Given the description of an element on the screen output the (x, y) to click on. 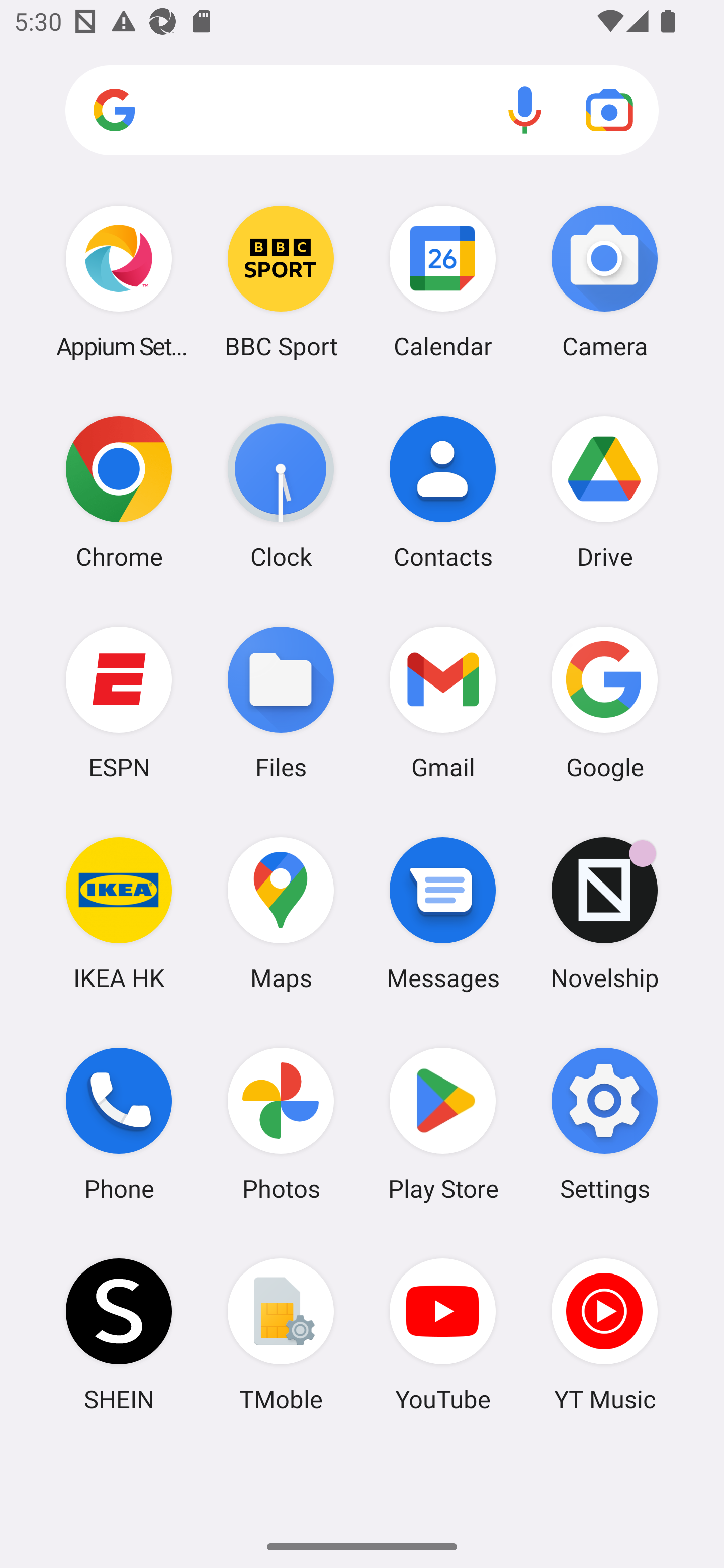
Search apps, web and more (361, 110)
Voice search (524, 109)
Google Lens (608, 109)
Appium Settings (118, 281)
BBC Sport (280, 281)
Calendar (443, 281)
Camera (604, 281)
Chrome (118, 492)
Clock (280, 492)
Contacts (443, 492)
Drive (604, 492)
ESPN (118, 702)
Files (280, 702)
Gmail (443, 702)
Google (604, 702)
IKEA HK (118, 913)
Maps (280, 913)
Messages (443, 913)
Novelship Novelship has 1 notification (604, 913)
Phone (118, 1124)
Photos (280, 1124)
Play Store (443, 1124)
Settings (604, 1124)
SHEIN (118, 1334)
TMoble (280, 1334)
YouTube (443, 1334)
YT Music (604, 1334)
